Given the description of an element on the screen output the (x, y) to click on. 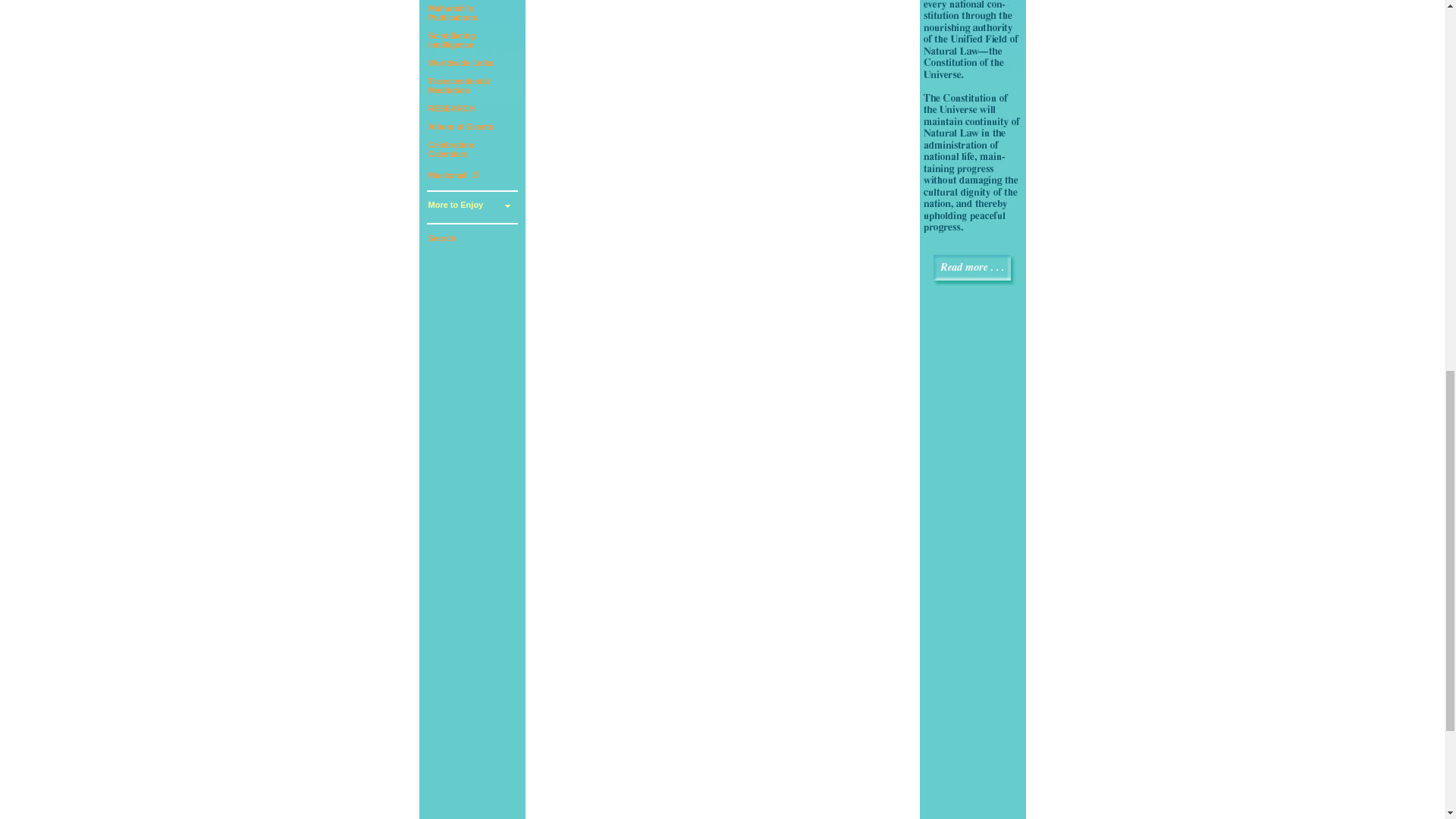
Worldwide Links (451, 149)
Album of Events (458, 85)
More to Enjoy (460, 62)
RESEARCH (460, 126)
